Given the description of an element on the screen output the (x, y) to click on. 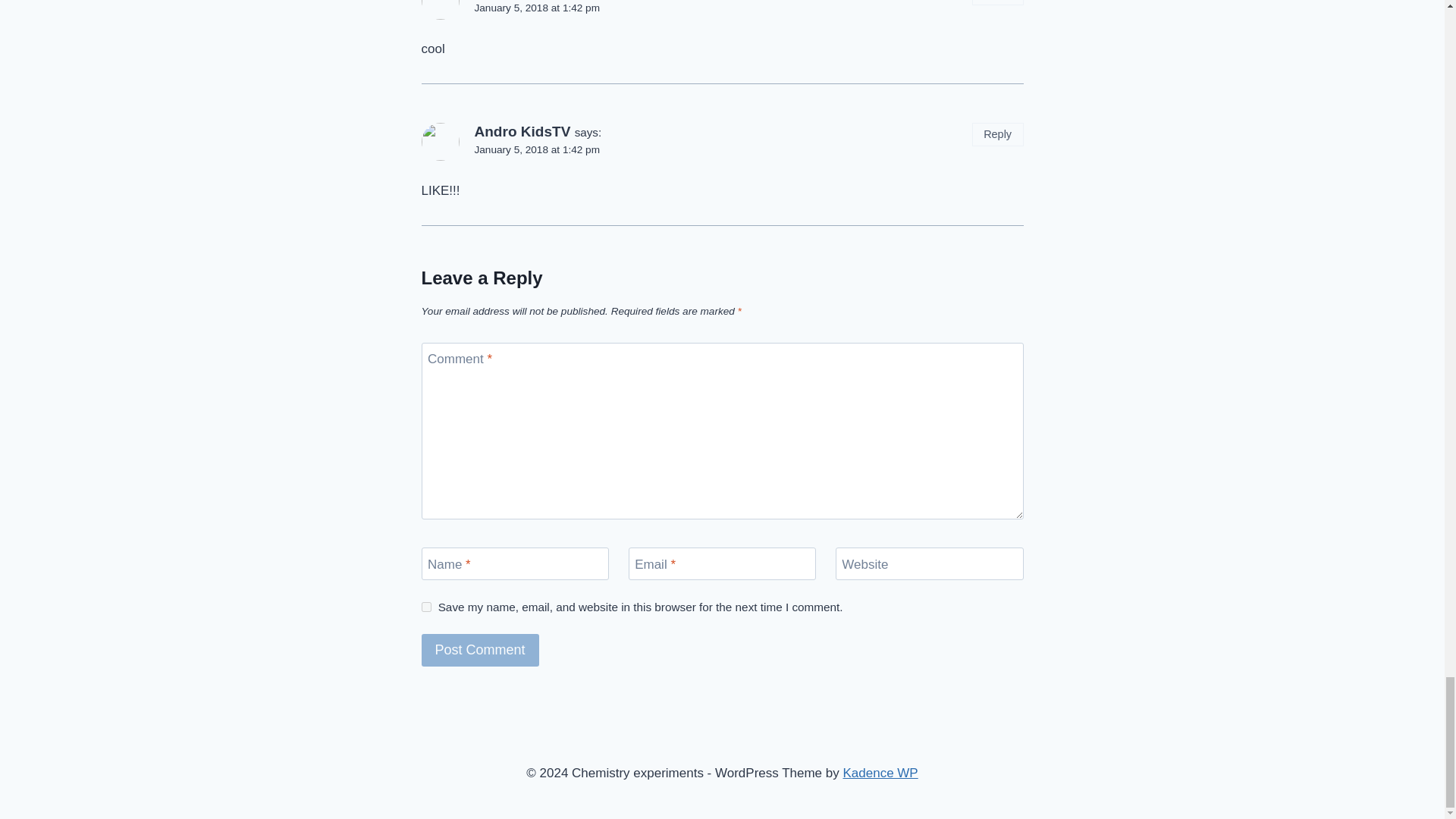
Post Comment (480, 649)
yes (426, 606)
